Given the description of an element on the screen output the (x, y) to click on. 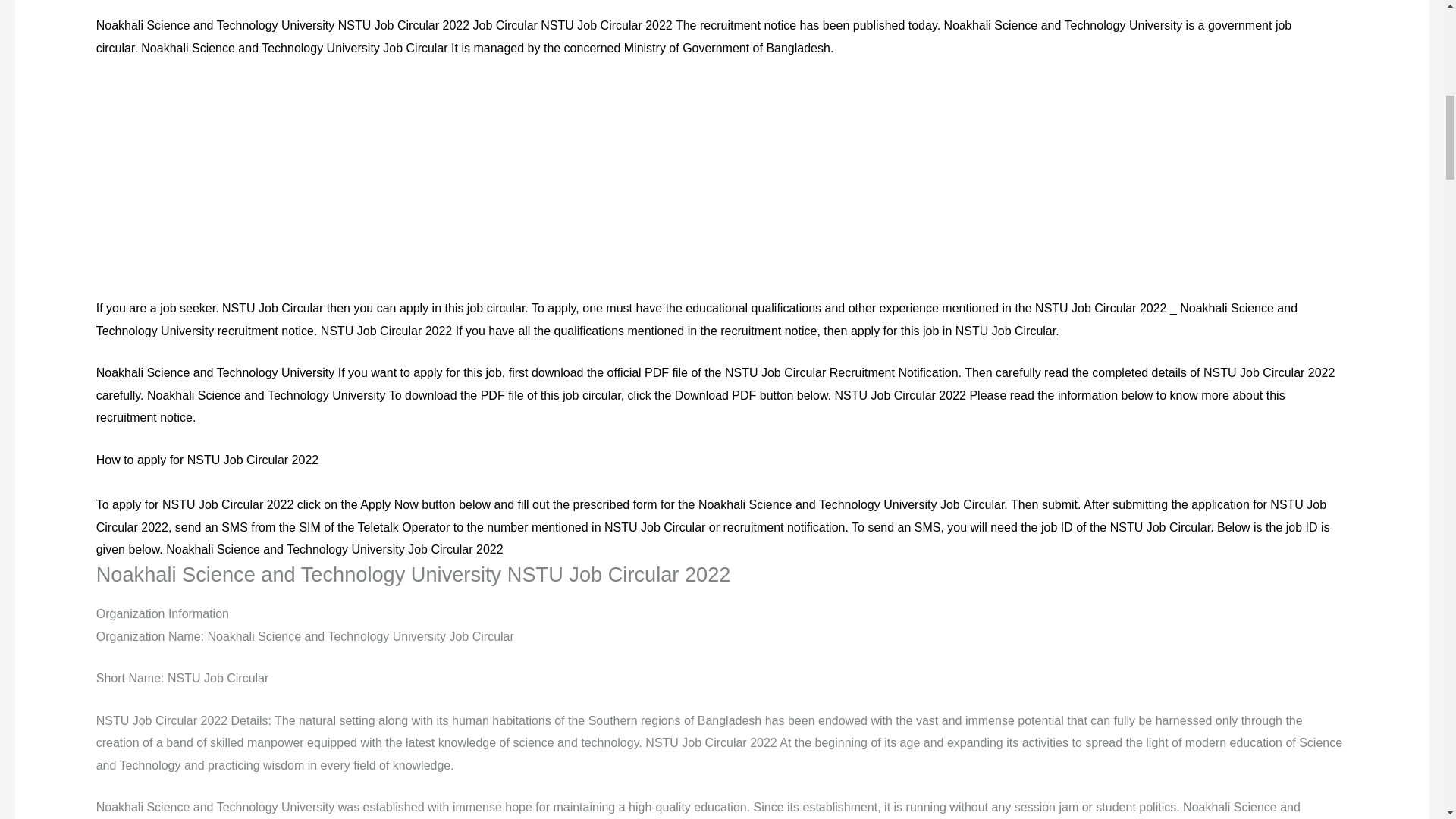
Advertisement (721, 184)
